Given the description of an element on the screen output the (x, y) to click on. 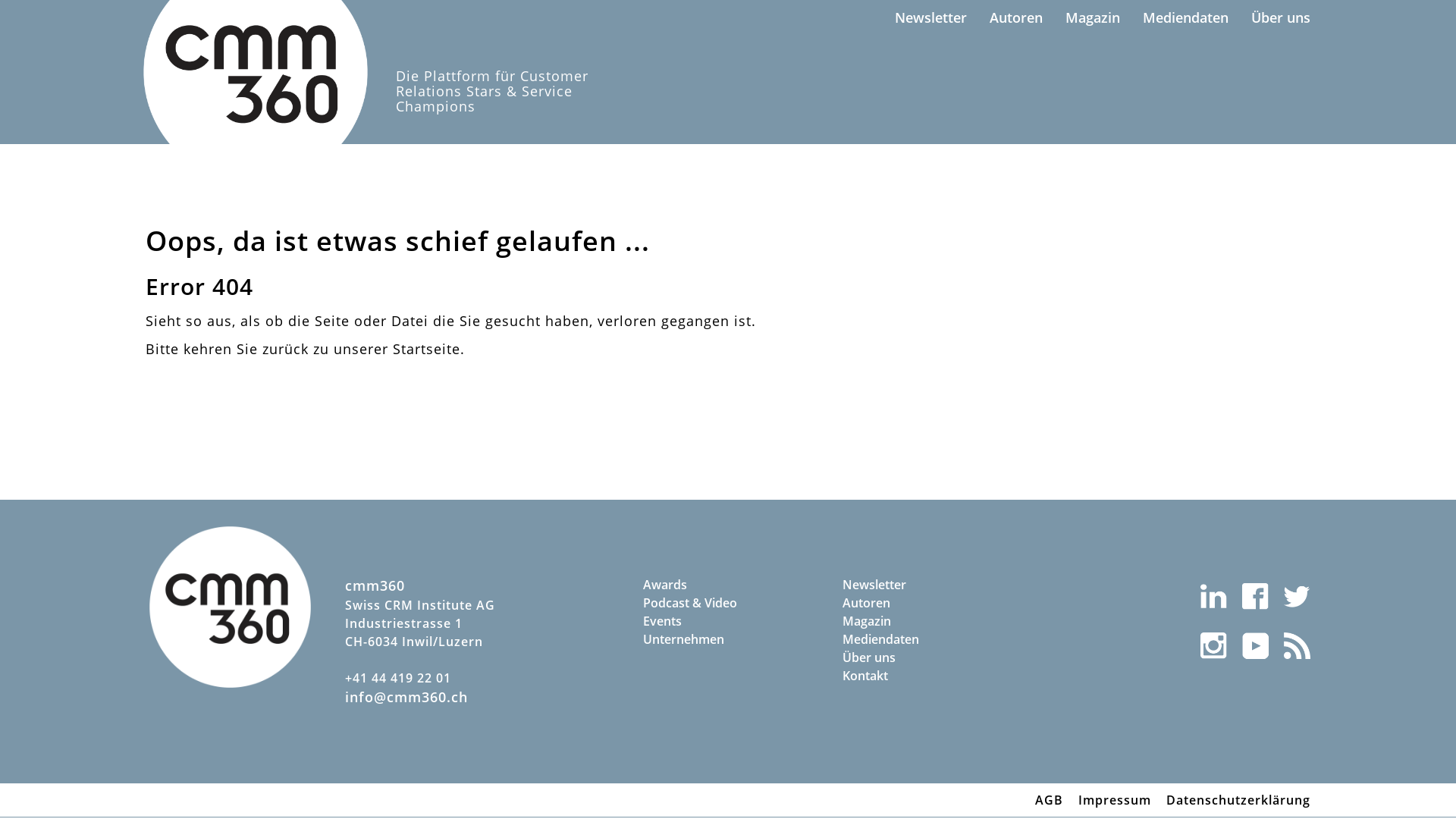
CMM_2023_Weiss_RGB-1 Element type: hover (229, 606)
Magazin Element type: text (926, 620)
AGB Element type: text (1049, 799)
info@cmm360.ch Element type: text (406, 696)
Newsletter Element type: text (926, 584)
Awards Element type: text (727, 584)
Unternehmen Element type: text (727, 639)
Events Element type: text (727, 620)
Impressum Element type: text (1114, 799)
Autoren Element type: text (1016, 17)
Autoren Element type: text (926, 602)
Kontakt Element type: text (926, 675)
Magazin Element type: text (1092, 17)
Podcast & Video Element type: text (727, 602)
Startseite. Element type: text (428, 348)
Newsletter Element type: text (930, 17)
Mediendaten Element type: text (1185, 17)
Mediendaten Element type: text (926, 639)
